Given the description of an element on the screen output the (x, y) to click on. 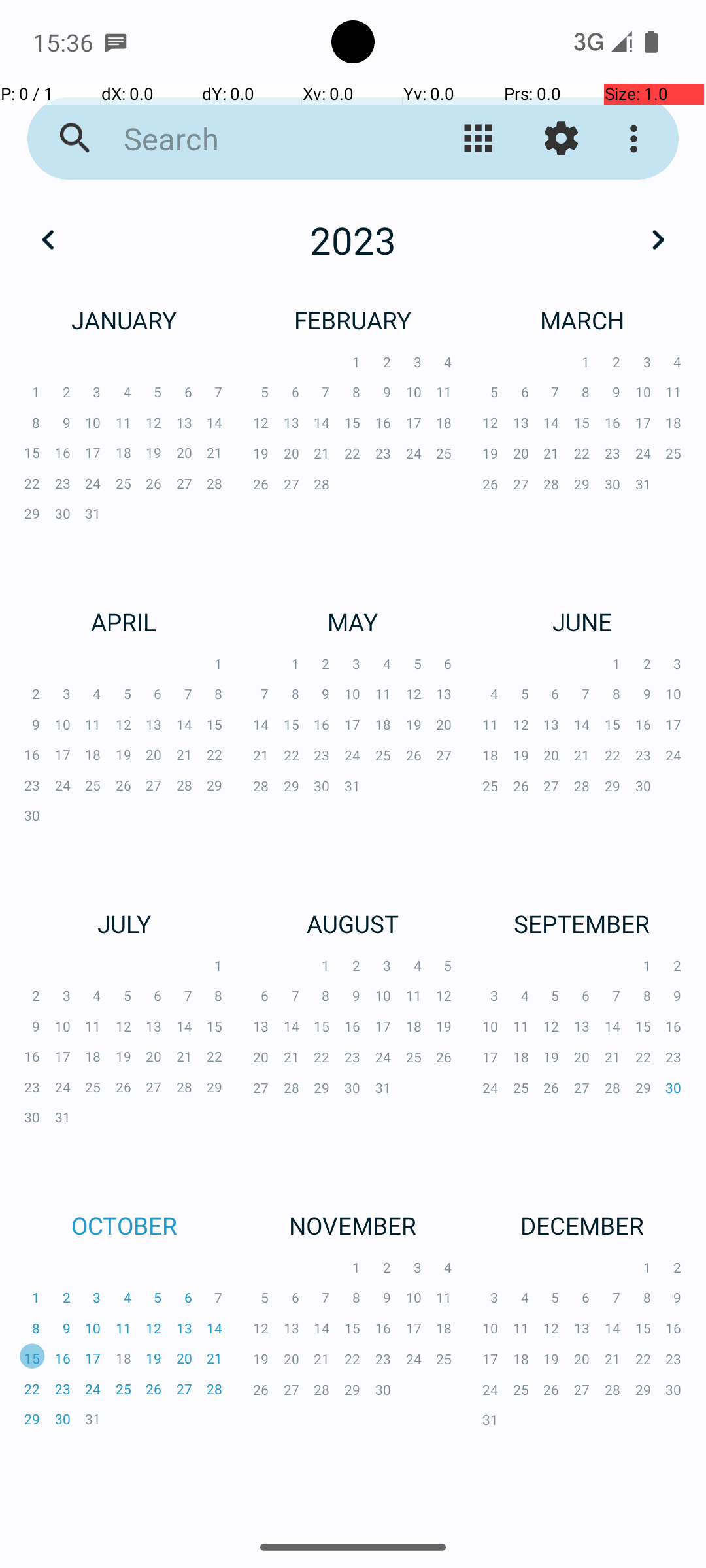
JANUARY Element type: android.widget.TextView (123, 319)
FEBRUARY Element type: android.widget.TextView (352, 319)
MARCH Element type: android.widget.TextView (582, 319)
APRIL Element type: android.widget.TextView (123, 621)
MAY Element type: android.widget.TextView (352, 621)
JUNE Element type: android.widget.TextView (582, 621)
JULY Element type: android.widget.TextView (123, 923)
AUGUST Element type: android.widget.TextView (352, 923)
SEPTEMBER Element type: android.widget.TextView (582, 923)
OCTOBER Element type: android.widget.TextView (123, 1224)
NOVEMBER Element type: android.widget.TextView (352, 1224)
DECEMBER Element type: android.widget.TextView (582, 1224)
15:36 Element type: android.widget.TextView (64, 41)
